Given the description of an element on the screen output the (x, y) to click on. 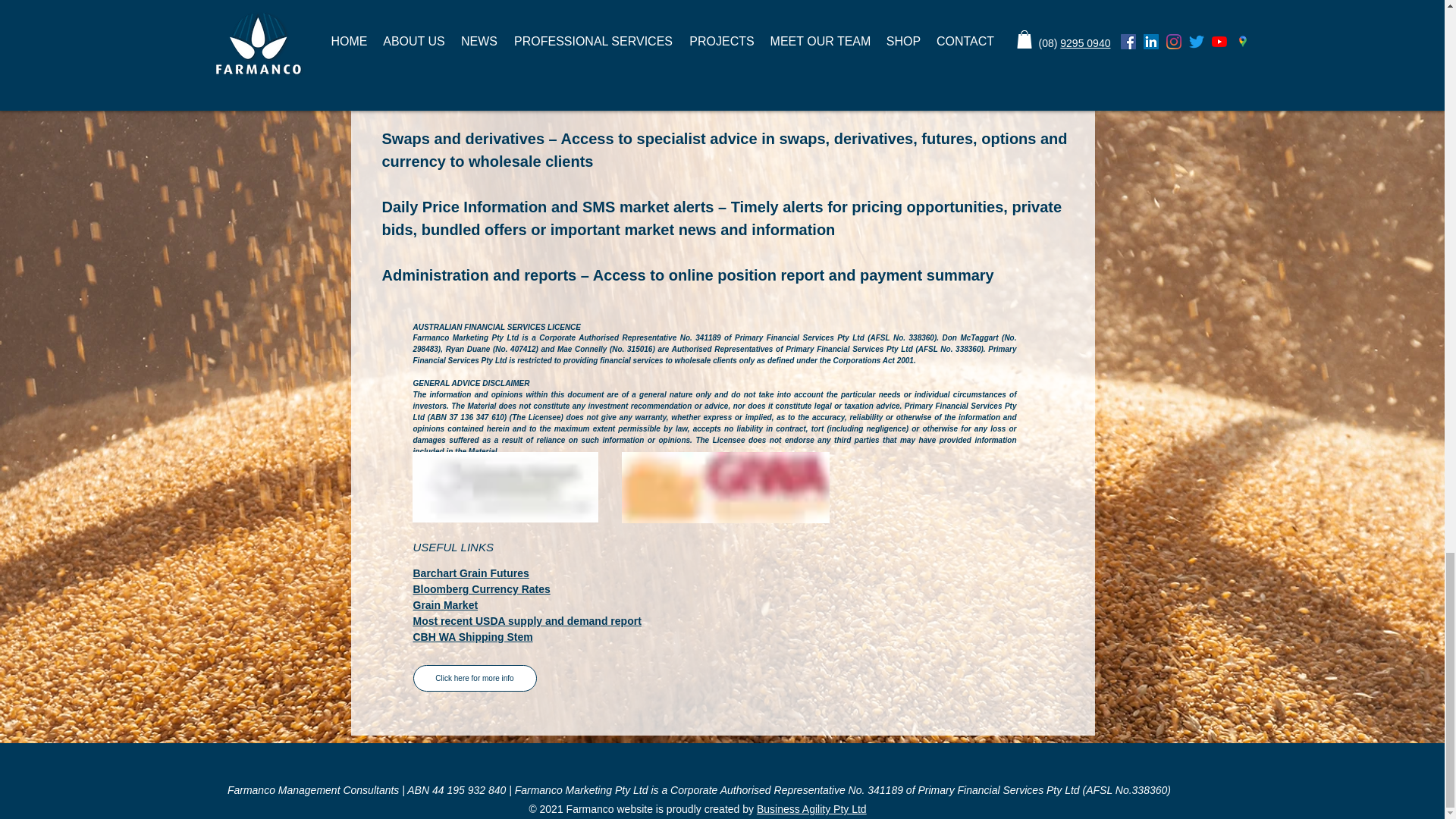
Bloomberg Currency Rates (481, 589)
Barchart Grain Futures (470, 573)
GTA logo 2021.jpg (505, 487)
Most recent USDA supply and demand report (526, 621)
GIWA.png (725, 487)
CBH WA Shipping Stem (472, 636)
Click here for more info (473, 678)
Business Agility Pty Ltd (811, 808)
Grain Market (444, 604)
